Given the description of an element on the screen output the (x, y) to click on. 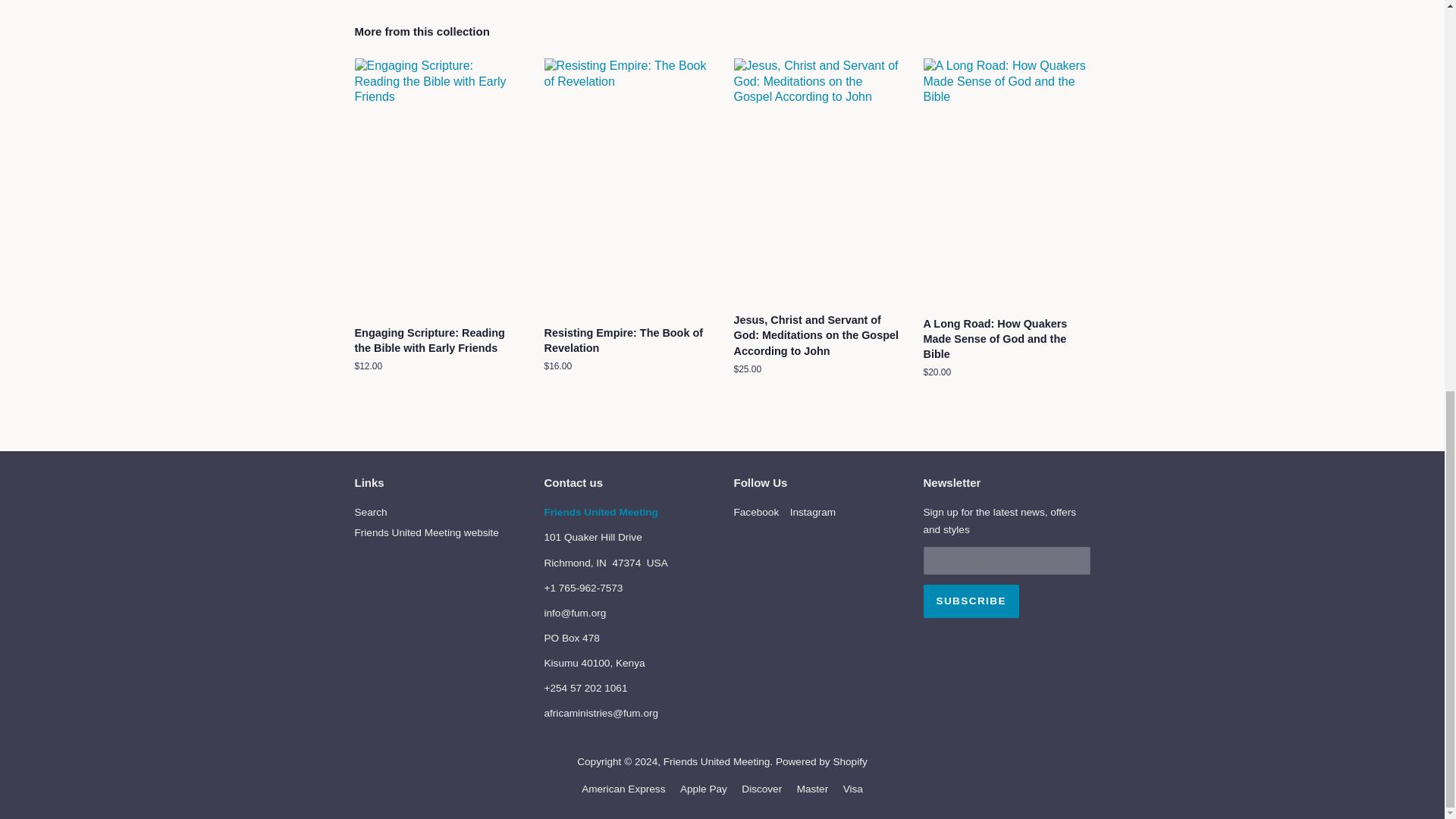
Friends United Meeting website (427, 532)
Friends United Meeting (716, 761)
Instagram (812, 511)
Facebook (755, 511)
Friends United Meeting (601, 511)
Subscribe (971, 601)
Friends United Meeting on Instagram (812, 511)
Subscribe (971, 601)
Powered by Shopify (821, 761)
Search (371, 511)
